Given the description of an element on the screen output the (x, y) to click on. 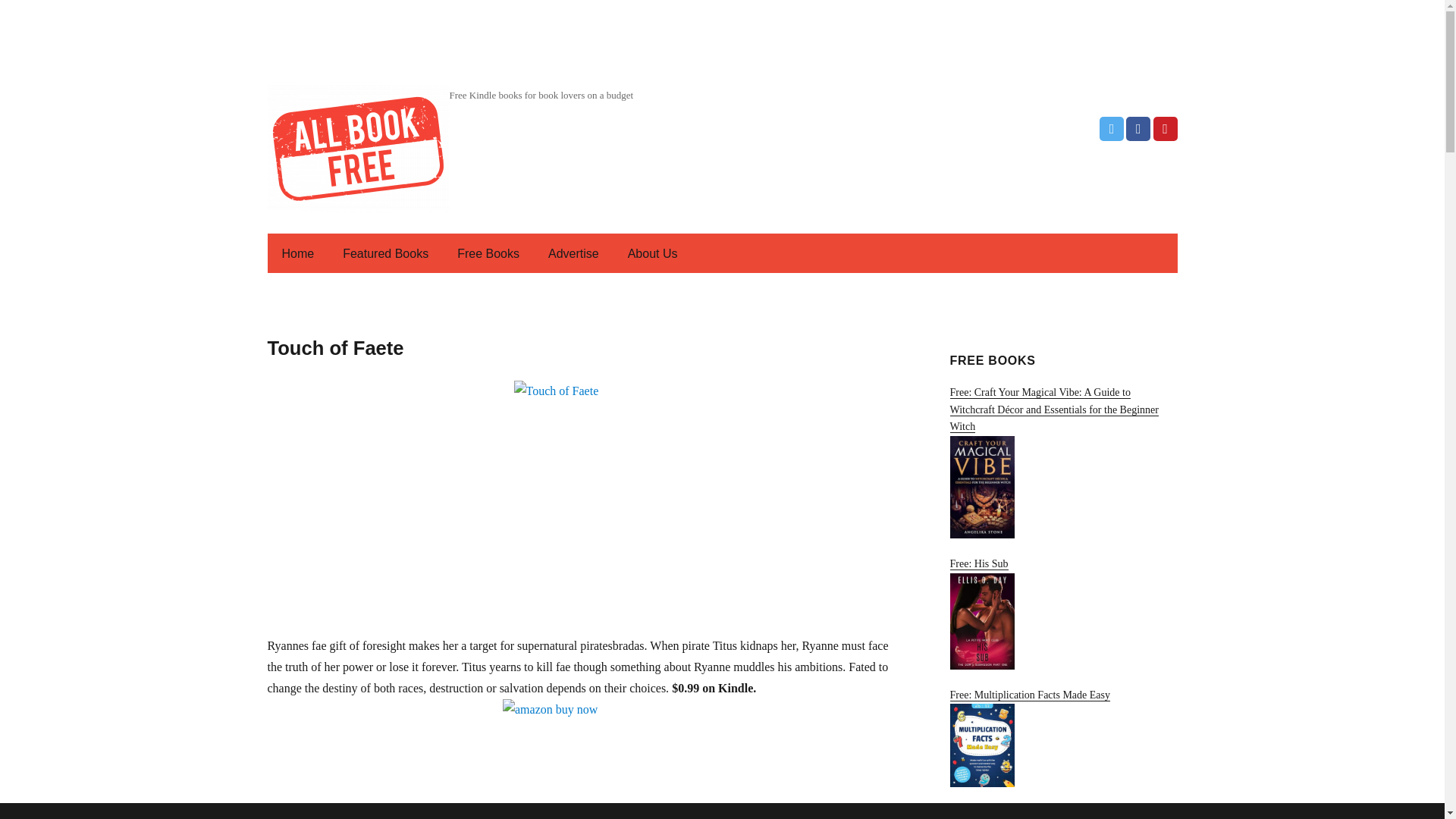
Featured Books (385, 253)
Free: His Sub (1062, 613)
About Us (652, 253)
Free Books (487, 253)
Pinterest (1164, 128)
Twitter (1111, 128)
Free: Multiplication Facts Made Easy (1062, 738)
Advertise (573, 253)
Facebook (1137, 128)
Home (297, 253)
